Given the description of an element on the screen output the (x, y) to click on. 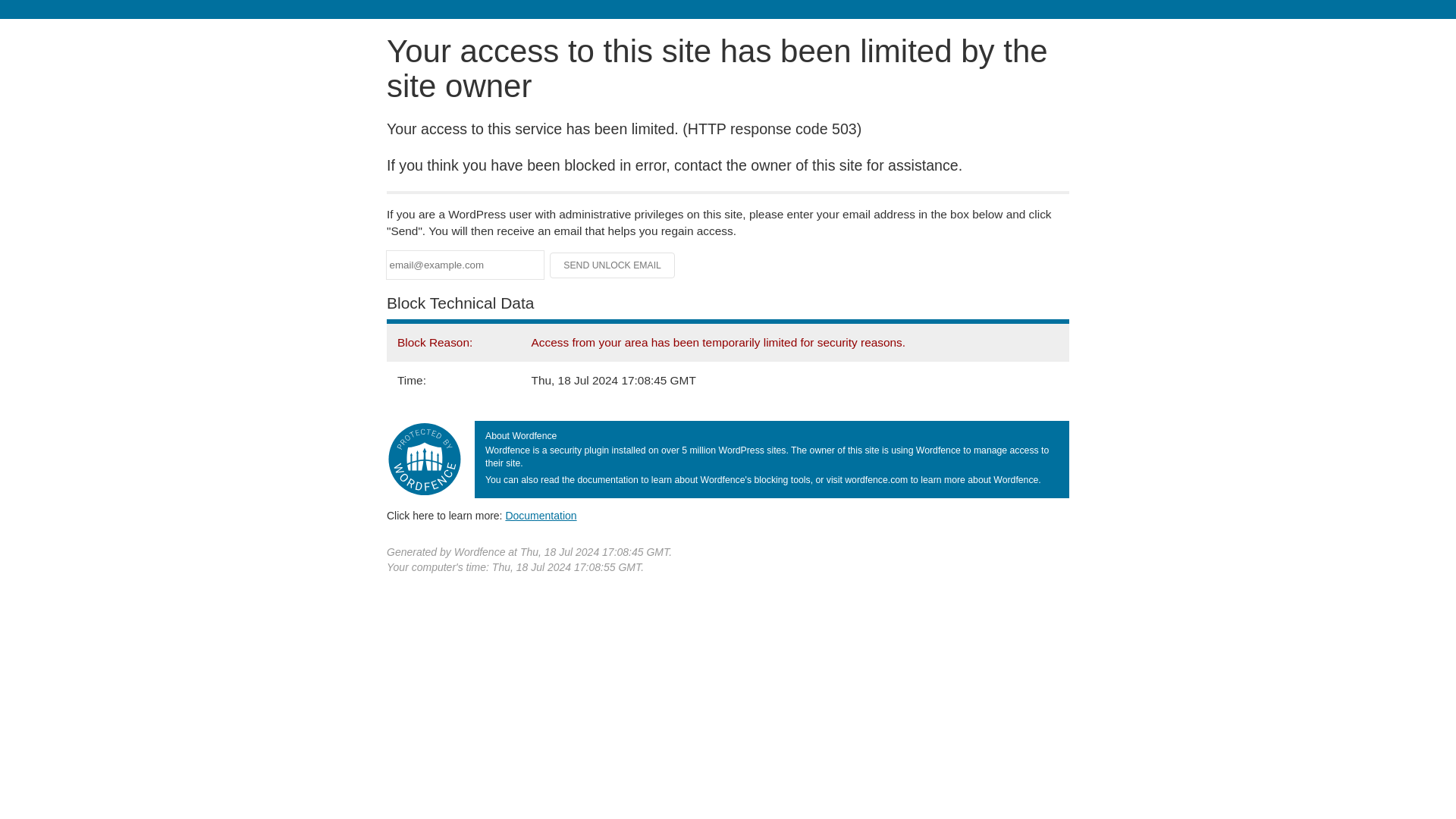
Send Unlock Email (612, 265)
Send Unlock Email (612, 265)
Documentation (540, 515)
